Given the description of an element on the screen output the (x, y) to click on. 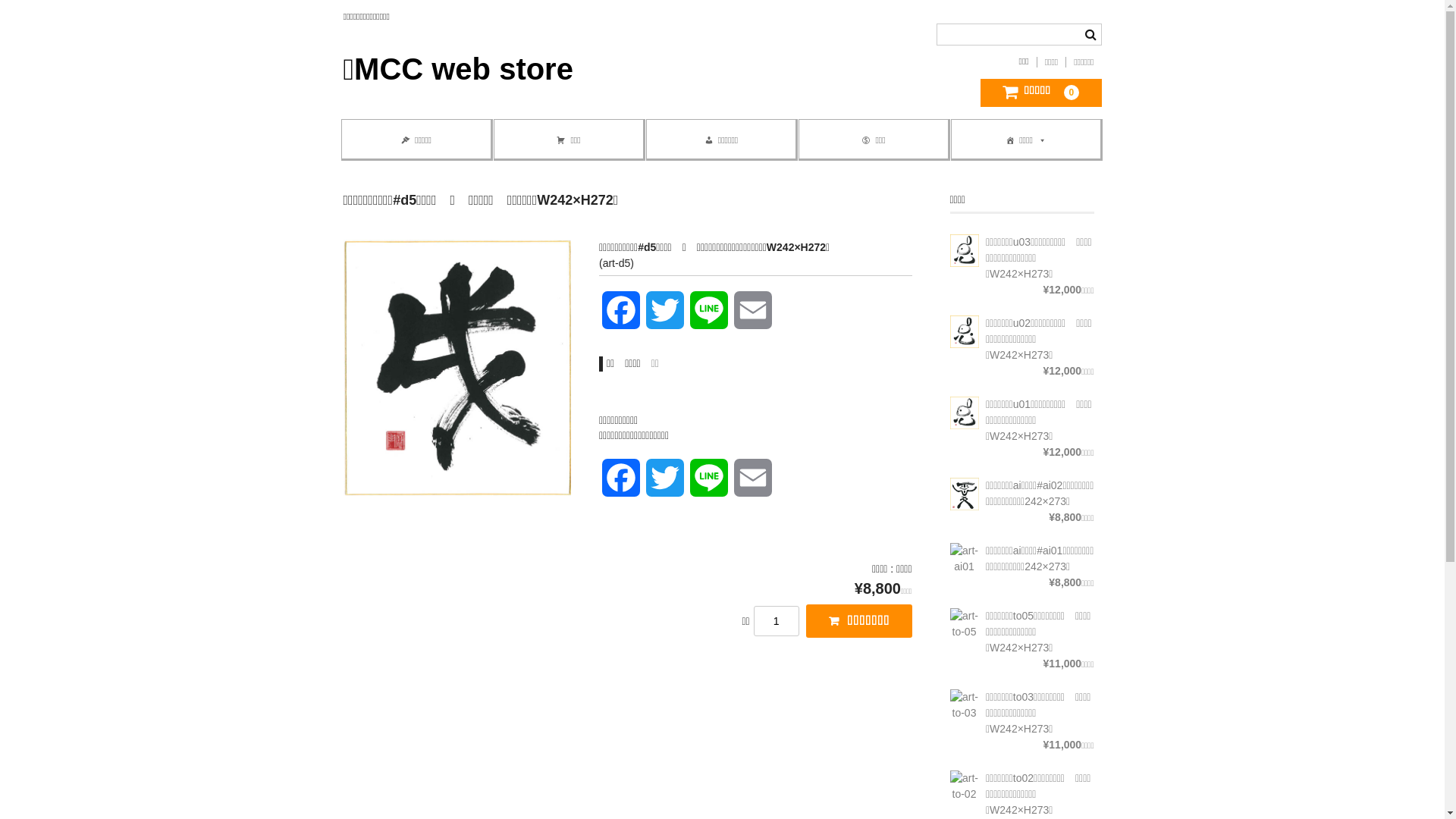
Facebook Element type: text (621, 317)
Twitter Element type: text (665, 317)
Line Element type: text (709, 317)
Line Element type: text (709, 484)
Facebook Element type: text (621, 484)
Email Element type: text (753, 484)
Twitter Element type: text (665, 484)
Email Element type: text (753, 317)
